Given the description of an element on the screen output the (x, y) to click on. 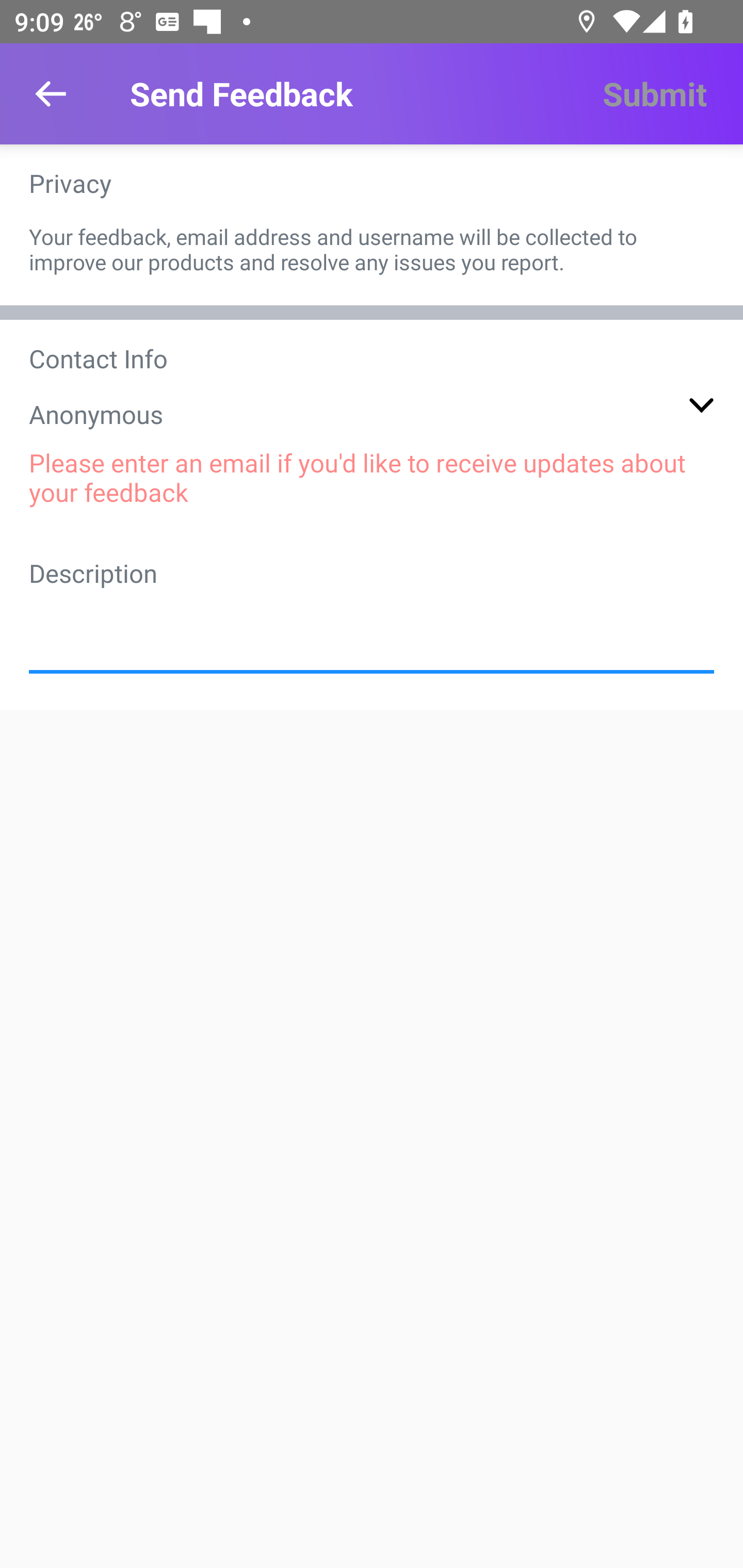
Navigate up (50, 93)
Submit (654, 94)
Anonymous (371, 413)
feedback (371, 626)
